Given the description of an element on the screen output the (x, y) to click on. 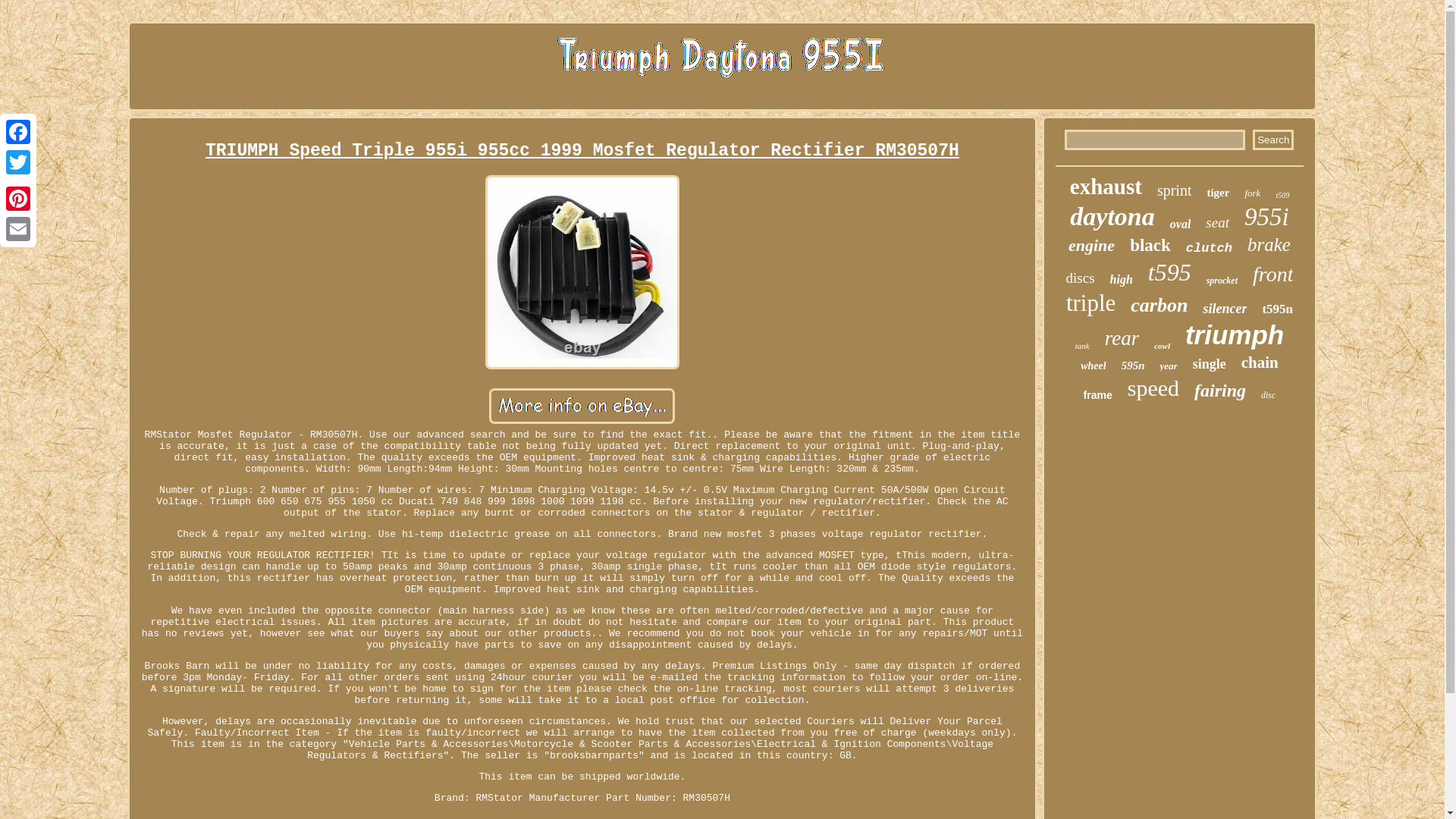
Email (17, 228)
fork (1252, 193)
t509 (1281, 194)
Twitter (17, 162)
seat (1216, 222)
Search (1273, 139)
t595 (1169, 272)
front (1272, 274)
discs (1079, 278)
sprocket (1222, 280)
Search (1273, 139)
955i (1266, 216)
oval (1180, 223)
